Given the description of an element on the screen output the (x, y) to click on. 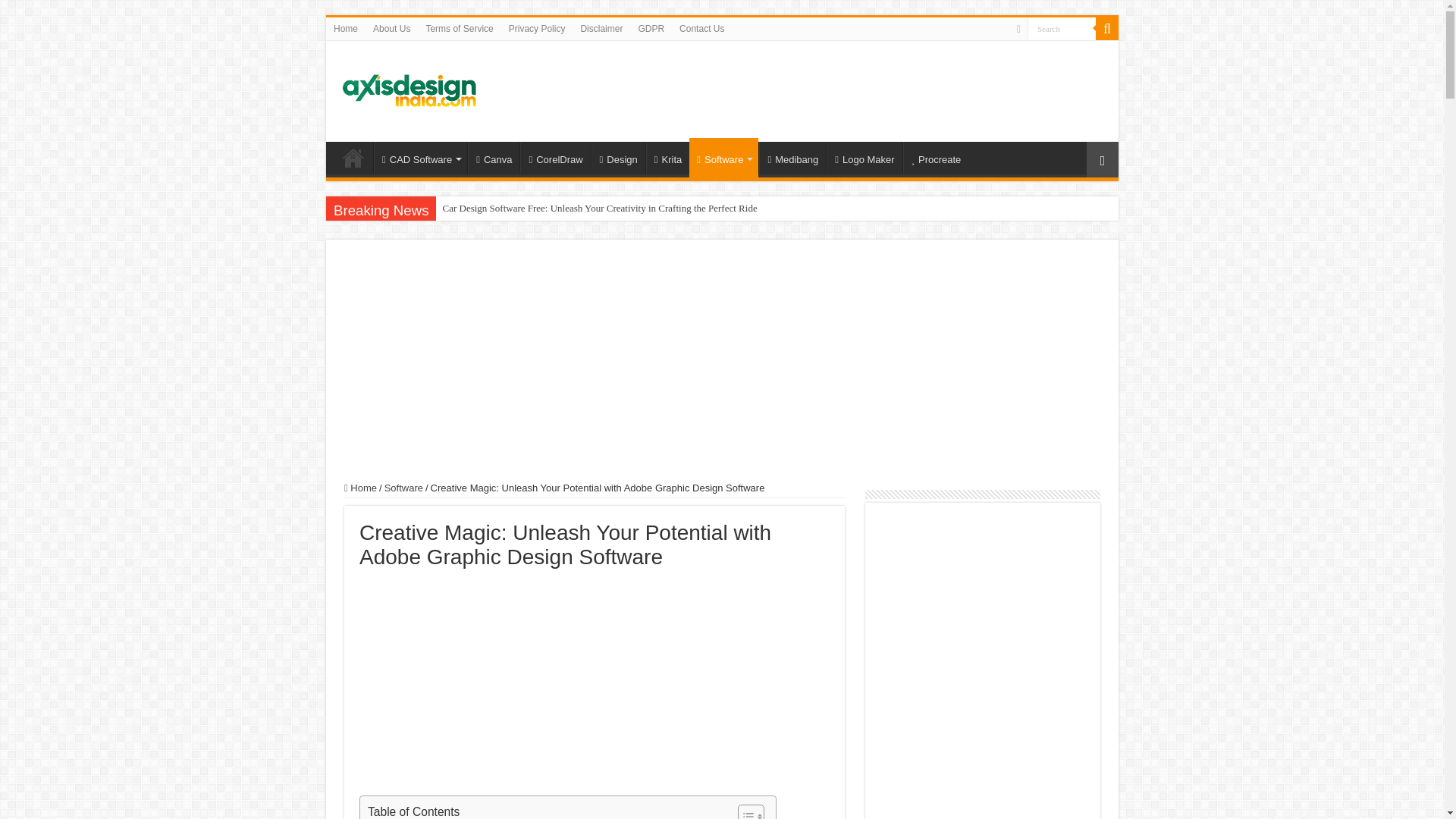
Home (345, 28)
Search (1107, 28)
Privacy Policy (536, 28)
About Us (391, 28)
Search (1061, 28)
Disclaimer (601, 28)
Terms of Service (458, 28)
Contact Us (701, 28)
Medibang (791, 157)
Search (1061, 28)
Home (352, 157)
AxisDesignIndia (409, 88)
Canva (493, 157)
Logo Maker (864, 157)
